Given the description of an element on the screen output the (x, y) to click on. 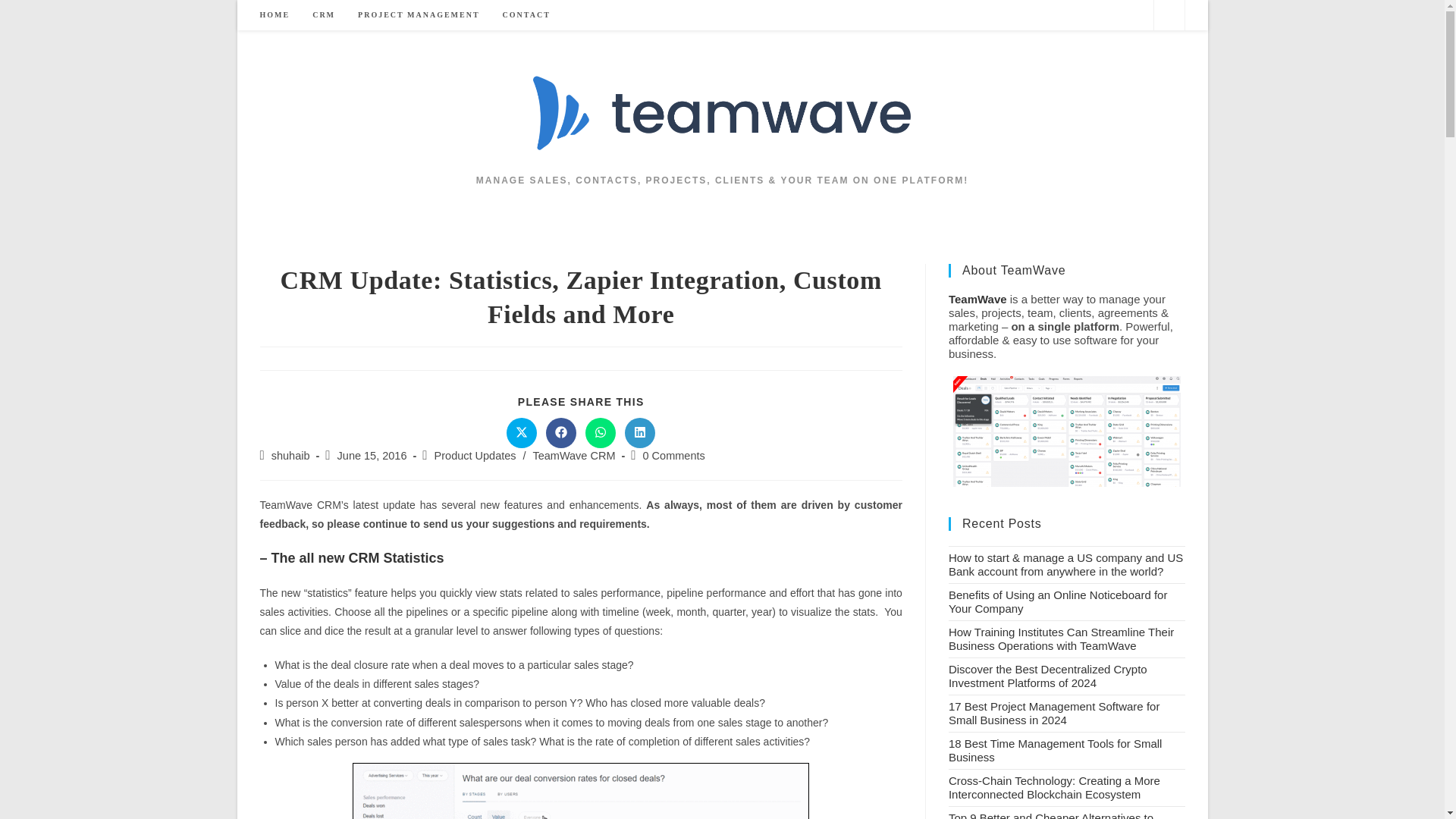
PROJECT MANAGEMENT (419, 15)
Opens in a new window (561, 432)
Posts by shuhaib (290, 455)
HOME (274, 15)
CRM (323, 15)
Opens in a new window (600, 432)
CONTACT (527, 15)
shuhaib (290, 455)
Opens in a new window (521, 432)
TeamWave CRM (573, 455)
Opens in a new window (639, 432)
0 Comments (673, 455)
Product Updates (474, 455)
